Given the description of an element on the screen output the (x, y) to click on. 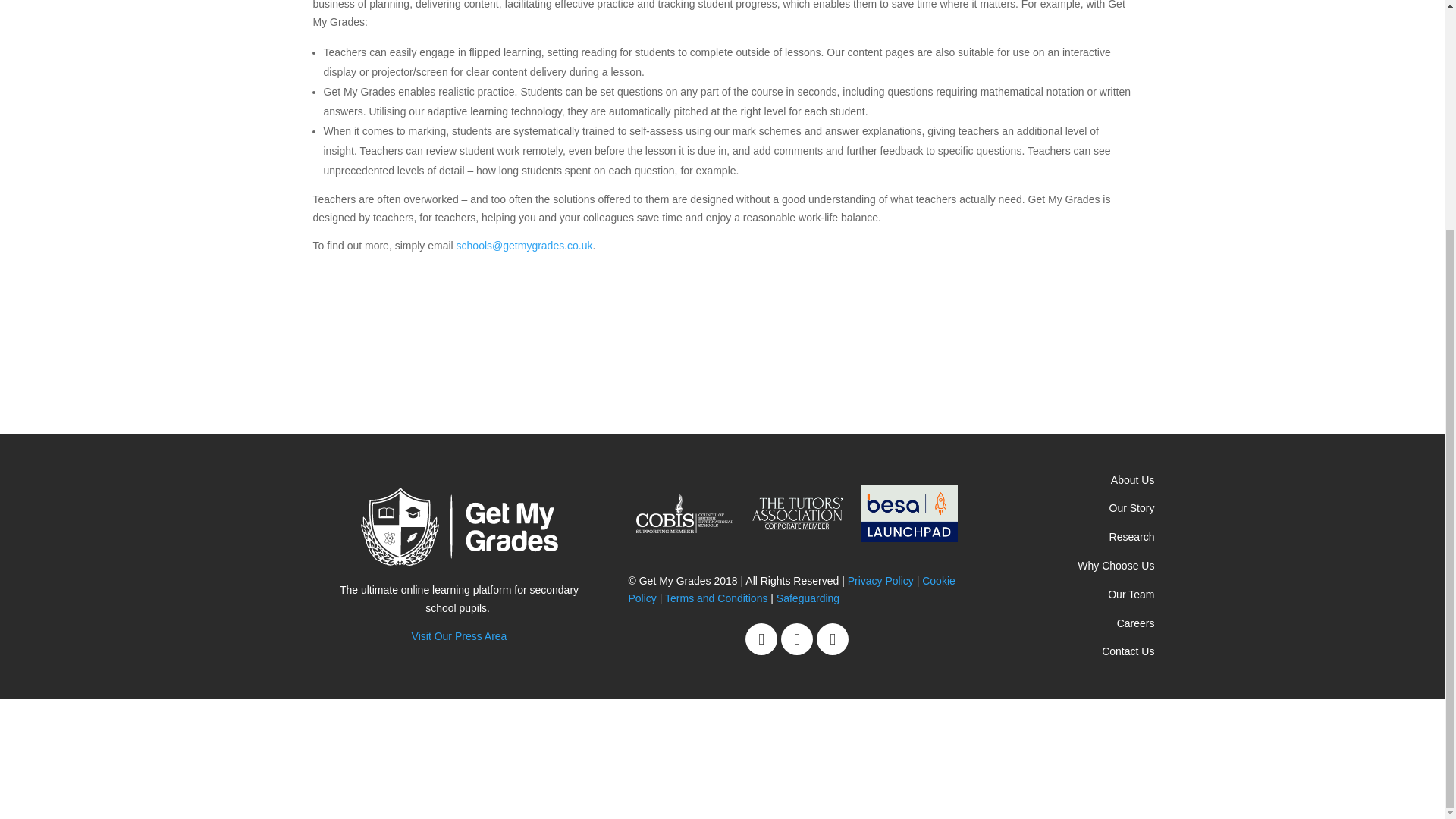
Chat (113, 756)
Visit Our Press Area (459, 635)
